Given the description of an element on the screen output the (x, y) to click on. 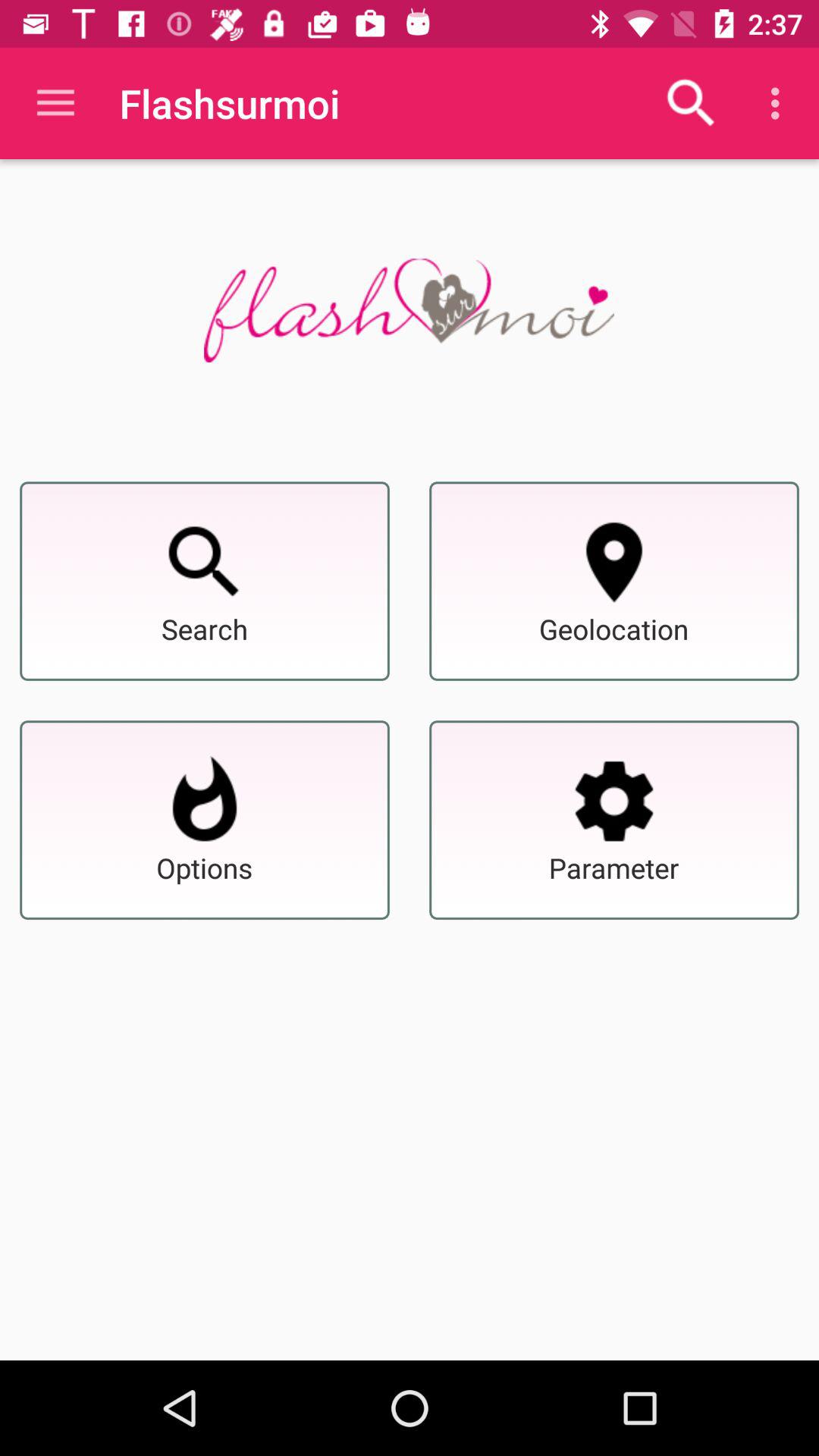
select geolocation (614, 562)
